Given the description of an element on the screen output the (x, y) to click on. 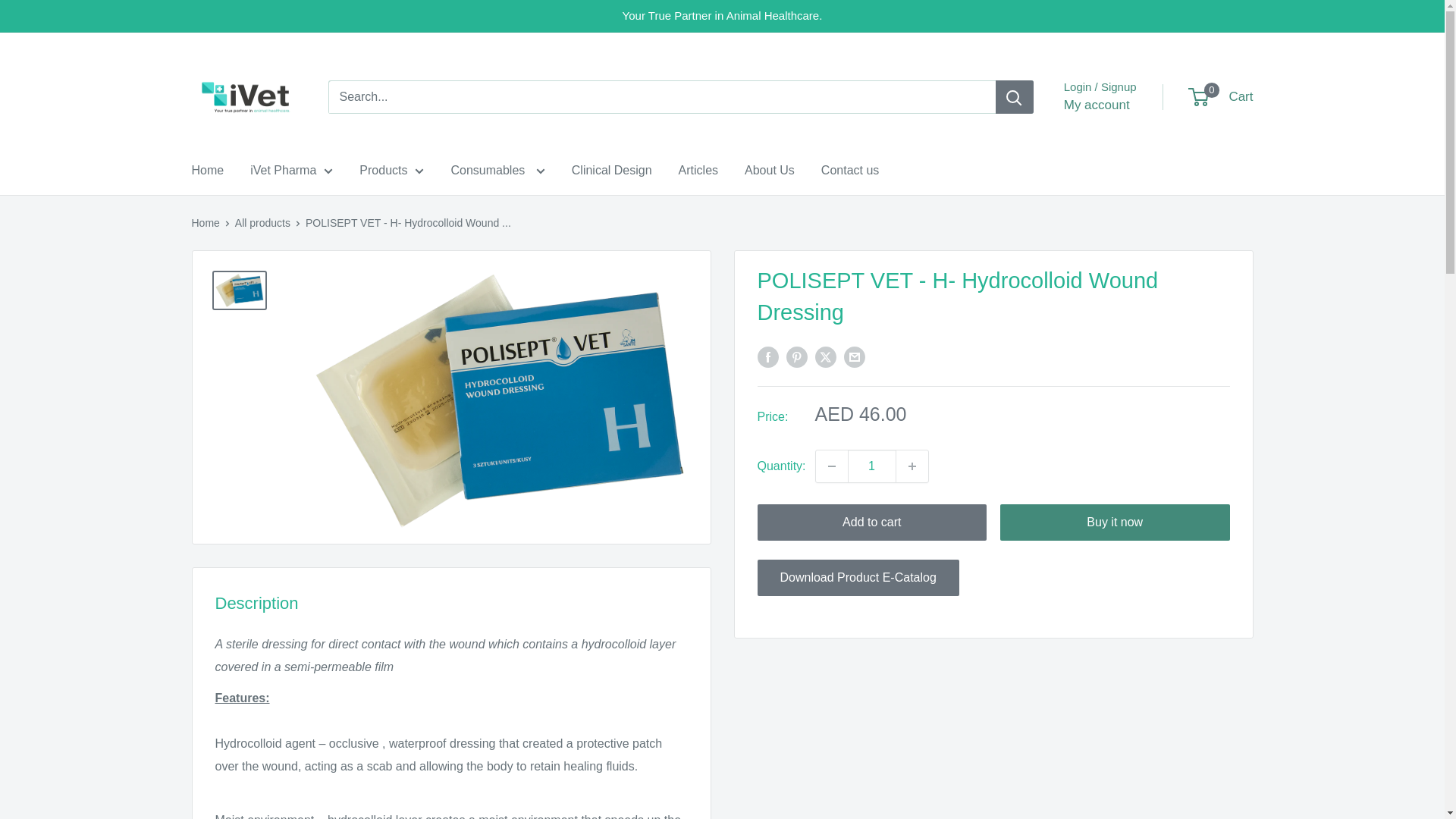
Decrease quantity by 1 (831, 466)
1 (871, 466)
Increase quantity by 1 (912, 466)
